Given the description of an element on the screen output the (x, y) to click on. 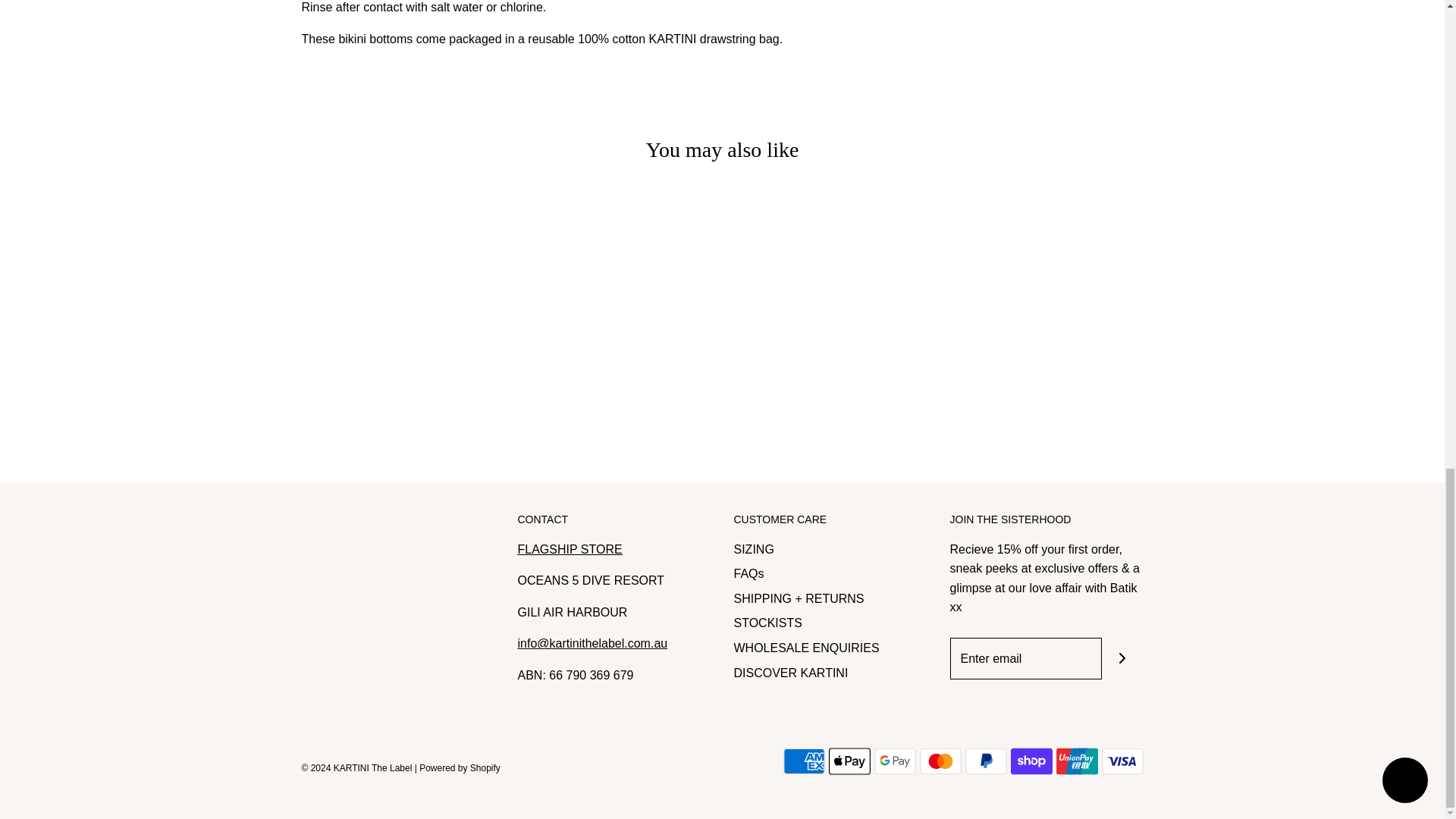
Mastercard (939, 761)
Google Pay (894, 761)
Visa (1121, 761)
Shop Pay (1030, 761)
Union Pay (1076, 761)
American Express (803, 761)
PayPal (984, 761)
Apple Pay (848, 761)
